Given the description of an element on the screen output the (x, y) to click on. 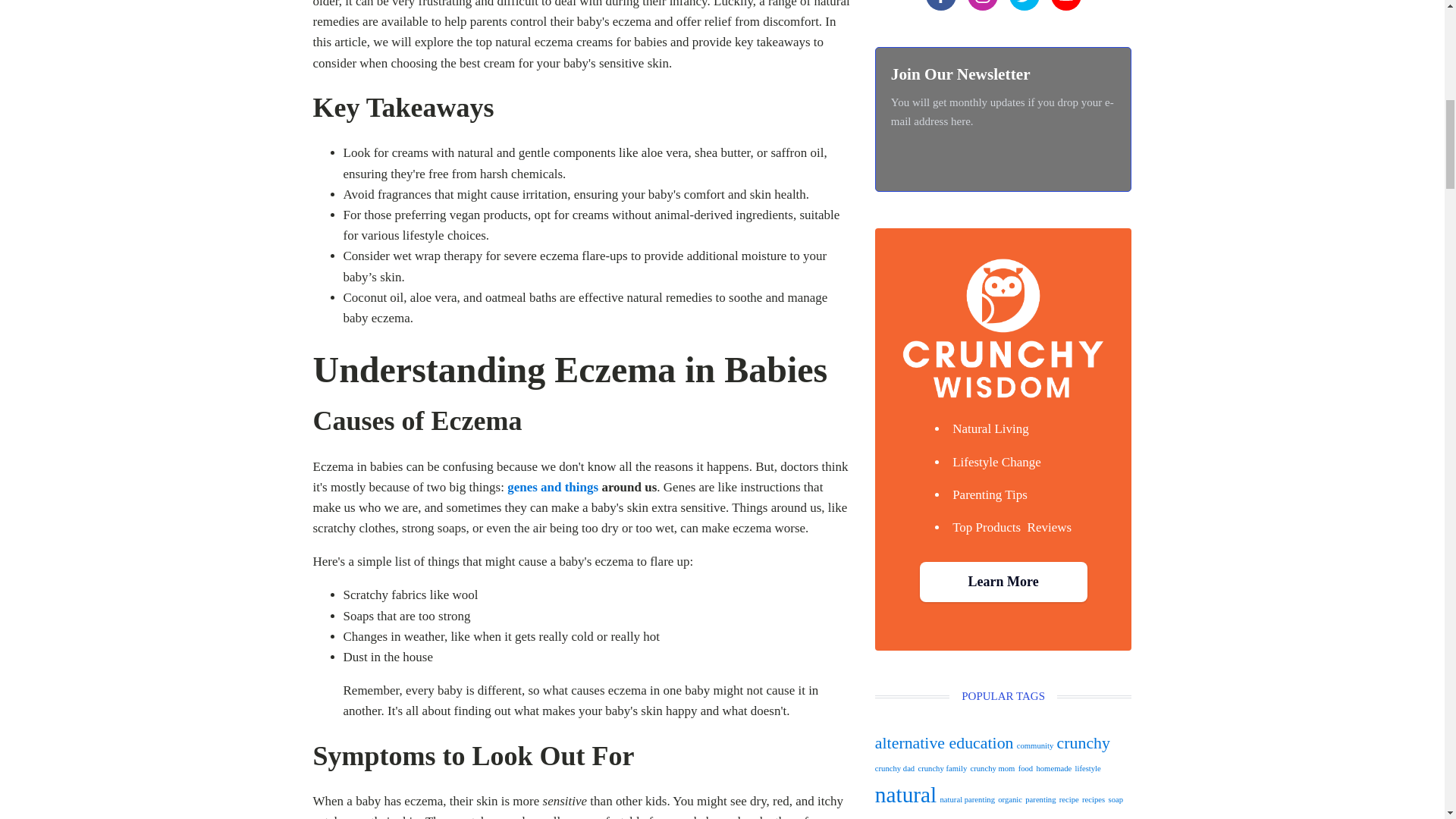
crunchy mom (992, 768)
crunchy dad (894, 768)
food (1025, 768)
Learn More (1003, 581)
natural parenting (967, 799)
homemade (1053, 768)
parenting (1040, 799)
community (1035, 746)
natural (905, 794)
organic (1009, 799)
recipe (1068, 799)
alternative education (944, 742)
lifestyle (1087, 768)
genes and things (552, 486)
crunchy (1083, 742)
